Given the description of an element on the screen output the (x, y) to click on. 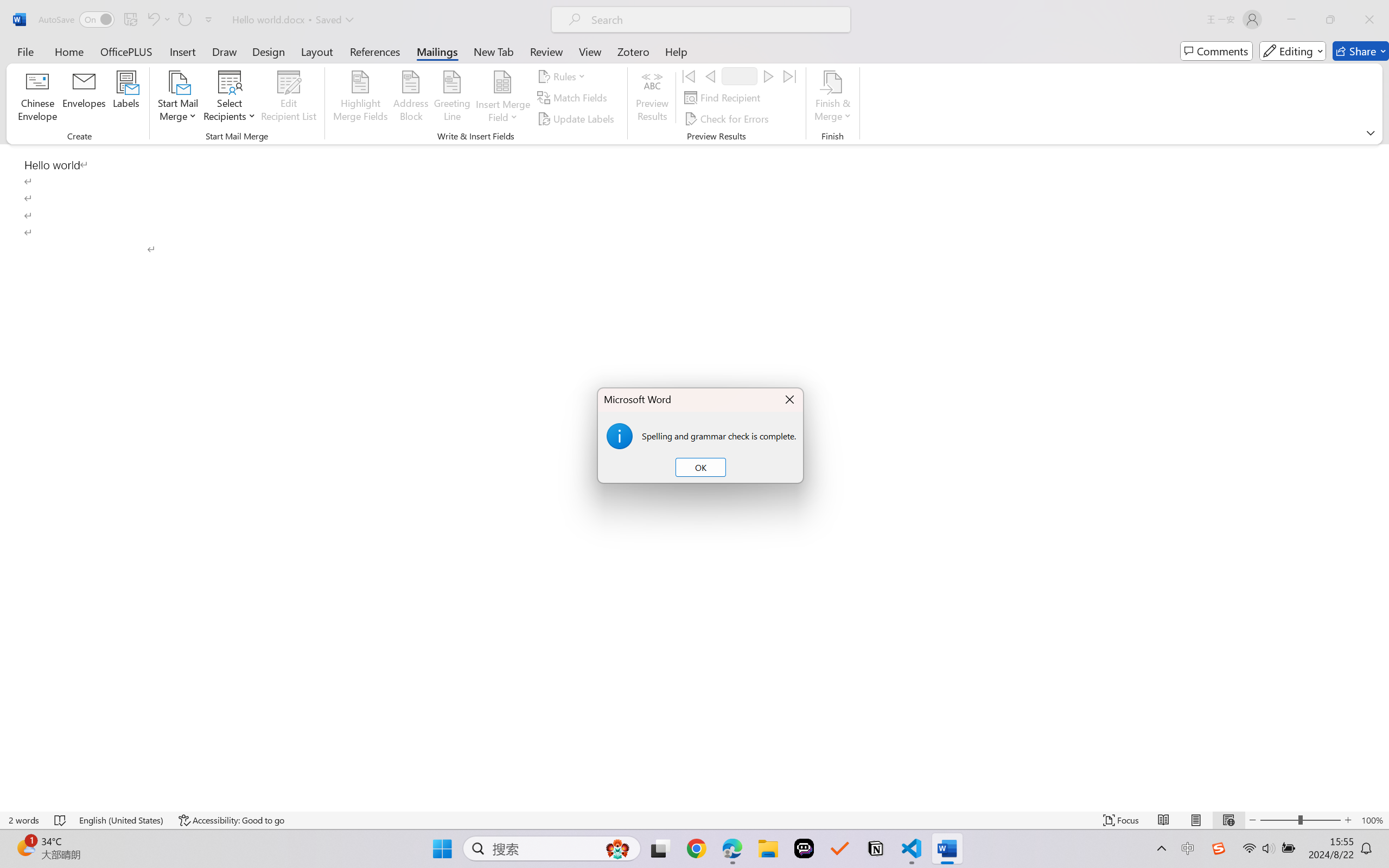
Draw (224, 51)
New Tab (493, 51)
Quick Access Toolbar (127, 19)
Minimize (1291, 19)
Labels... (126, 97)
Undo Click and Type Formatting (152, 19)
Address Block... (410, 97)
